Given the description of an element on the screen output the (x, y) to click on. 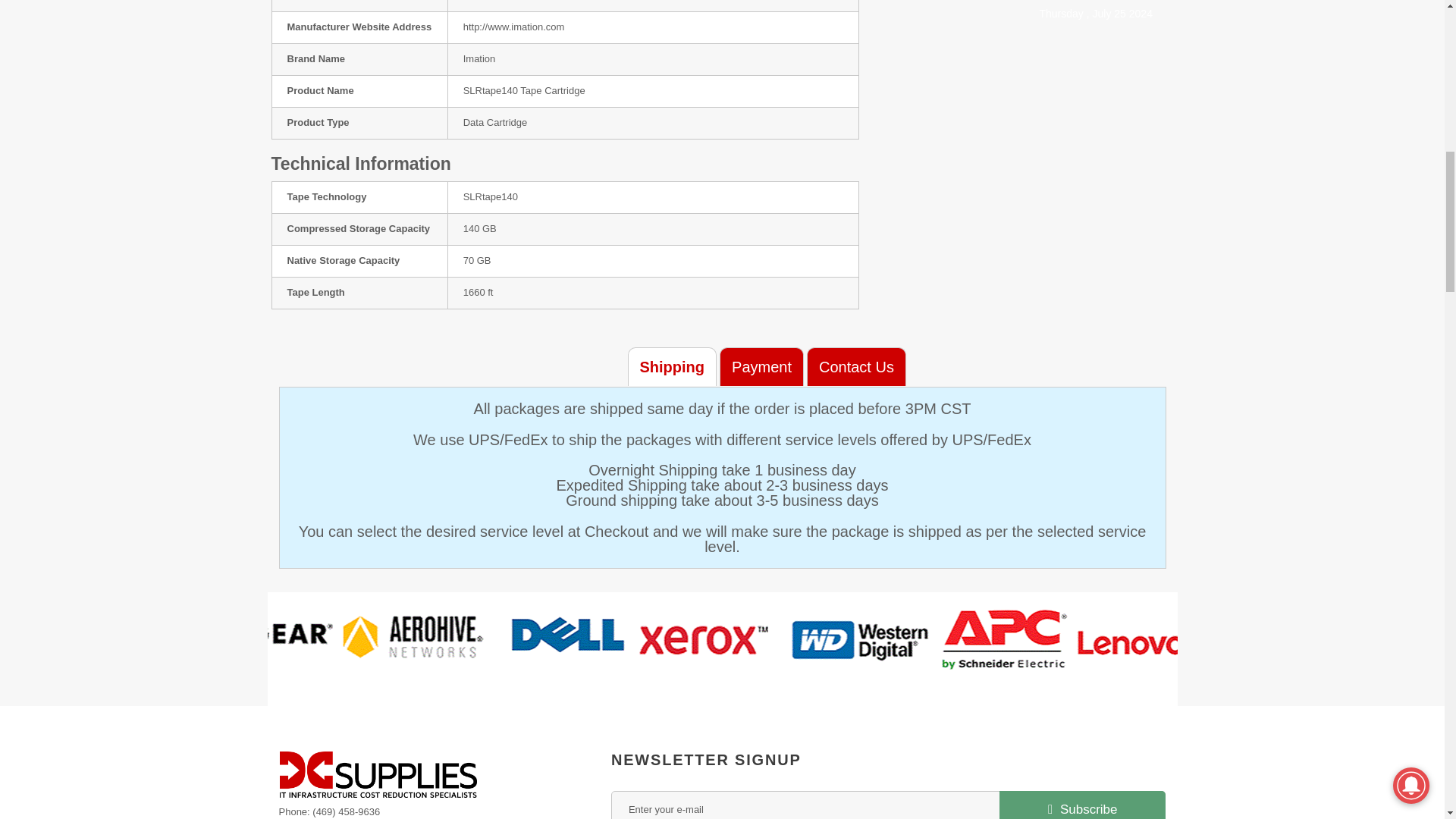
Enter your e-mail (888, 805)
